Given the description of an element on the screen output the (x, y) to click on. 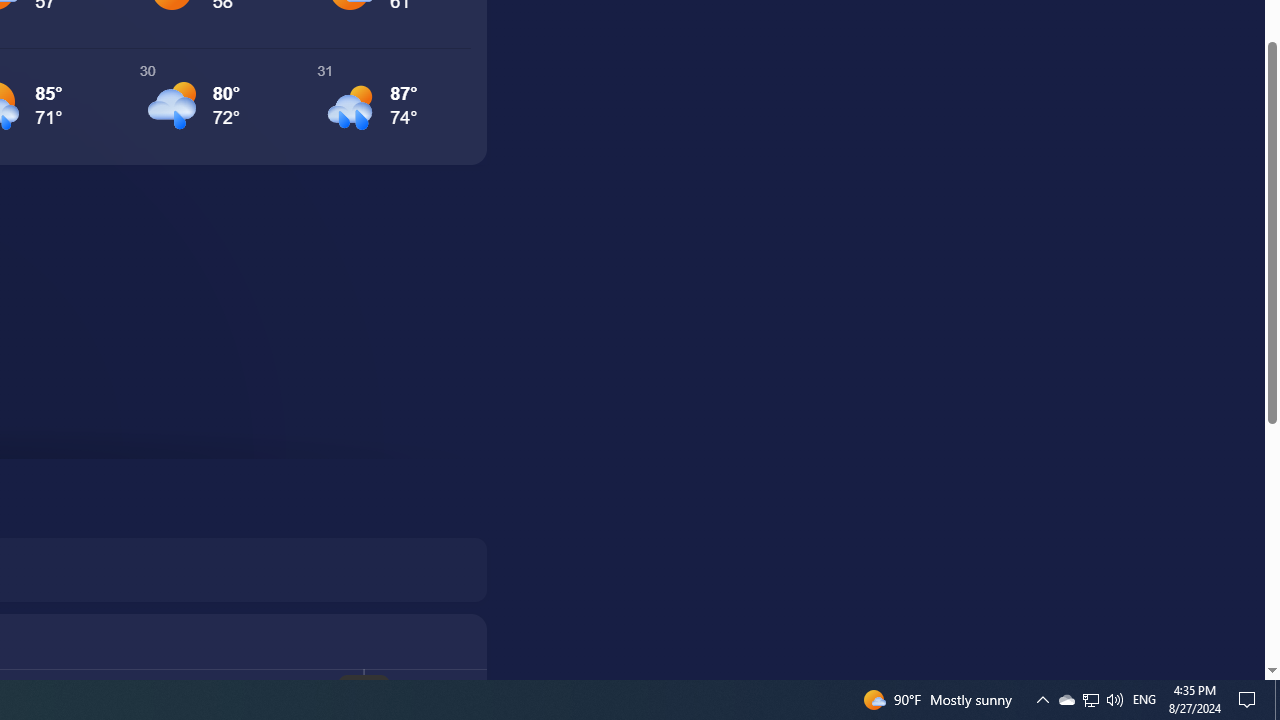
User Promoted Notification Area (1090, 699)
Action Center, No new notifications (1250, 699)
Notification Chevron (1042, 699)
Tray Input Indicator - English (United States) (1091, 699)
Show desktop (1144, 699)
Q2790: 100% (1066, 699)
